Given the description of an element on the screen output the (x, y) to click on. 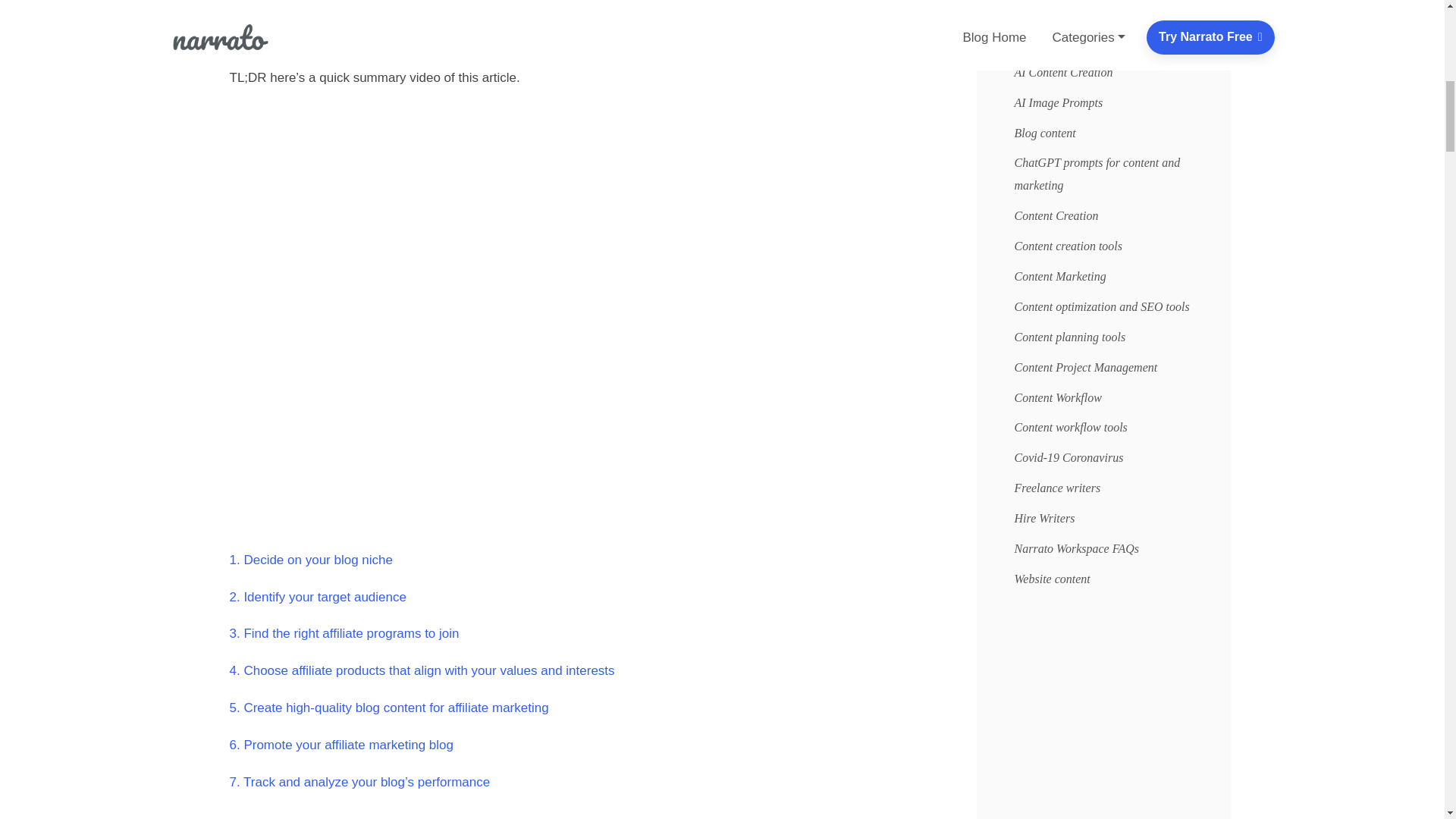
5. Create high-quality blog content for affiliate marketing (388, 707)
3. Find the right affiliate programs to join (343, 633)
6. Promote your affiliate marketing blog (340, 744)
1. Decide on your blog niche (309, 559)
2. Identify your target audience (317, 596)
